Given the description of an element on the screen output the (x, y) to click on. 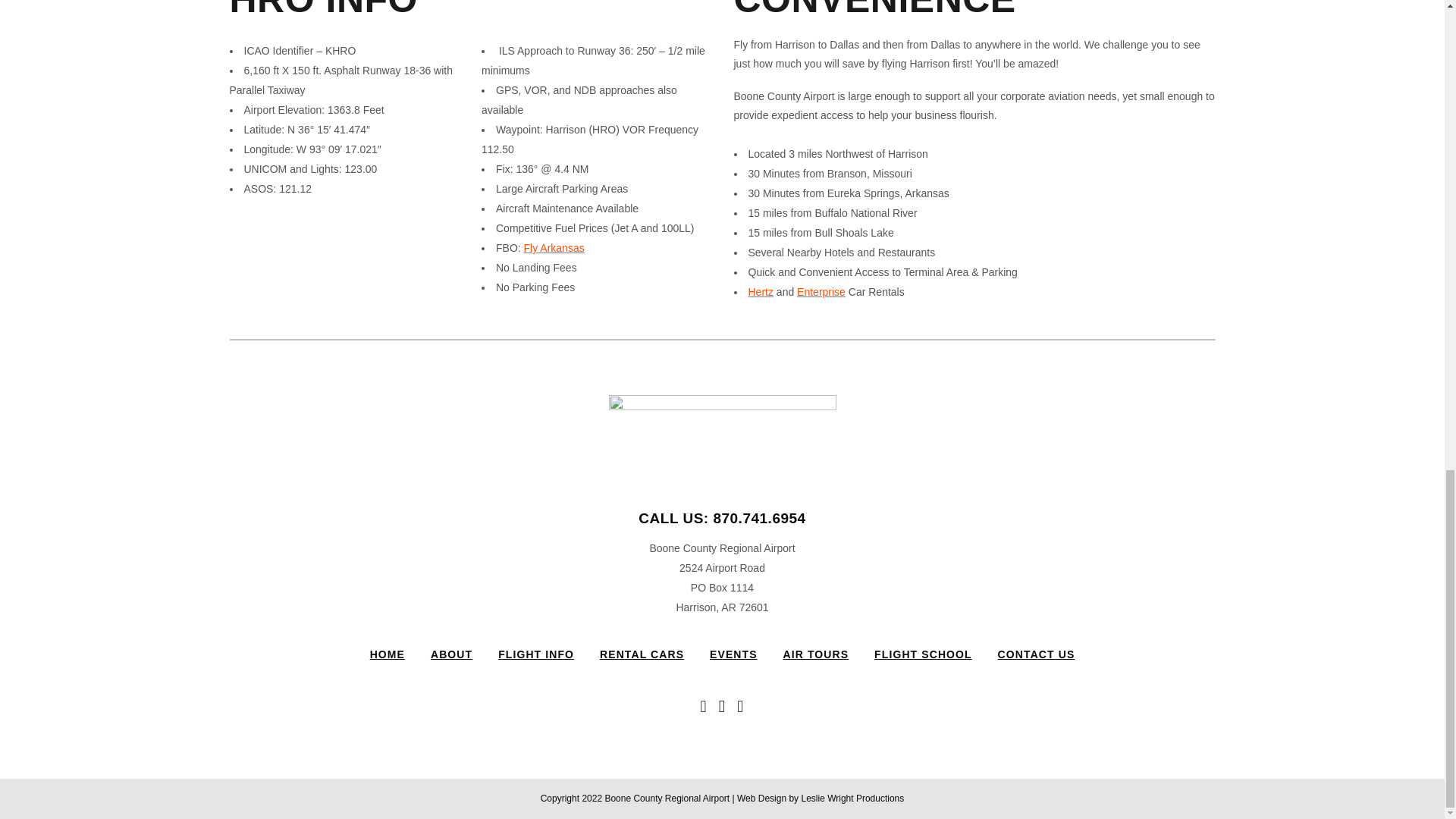
FLIGHT SCHOOL (923, 654)
AIR TOURS (815, 654)
HOME (386, 654)
CONTACT US (1036, 654)
Fly Arkansas (554, 247)
FLIGHT INFO (535, 654)
Hertz (760, 291)
Enterprise (820, 291)
RENTAL CARS (641, 654)
EVENTS (733, 654)
